Given the description of an element on the screen output the (x, y) to click on. 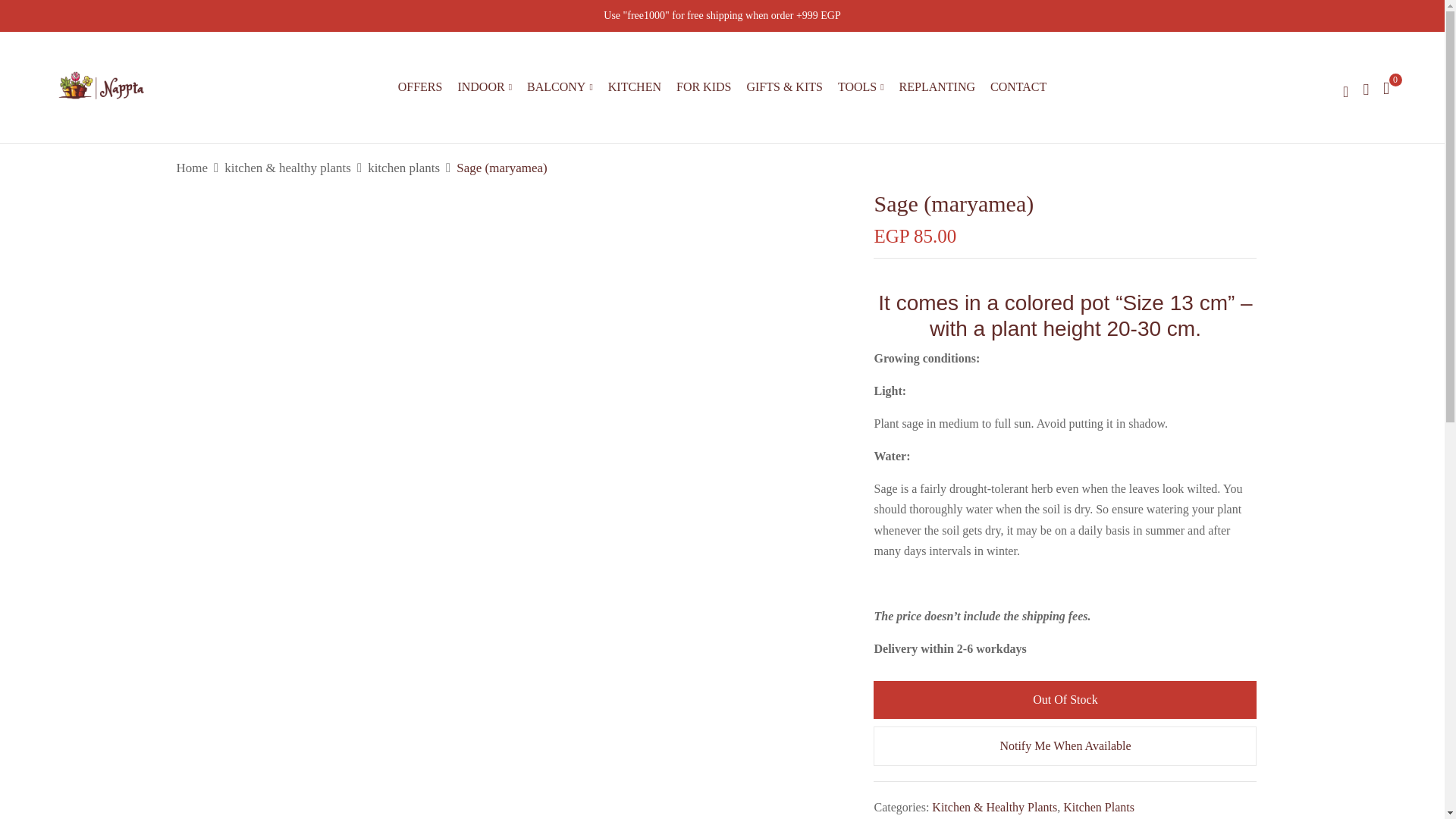
INDOOR (484, 87)
OFFERS (419, 86)
